Given the description of an element on the screen output the (x, y) to click on. 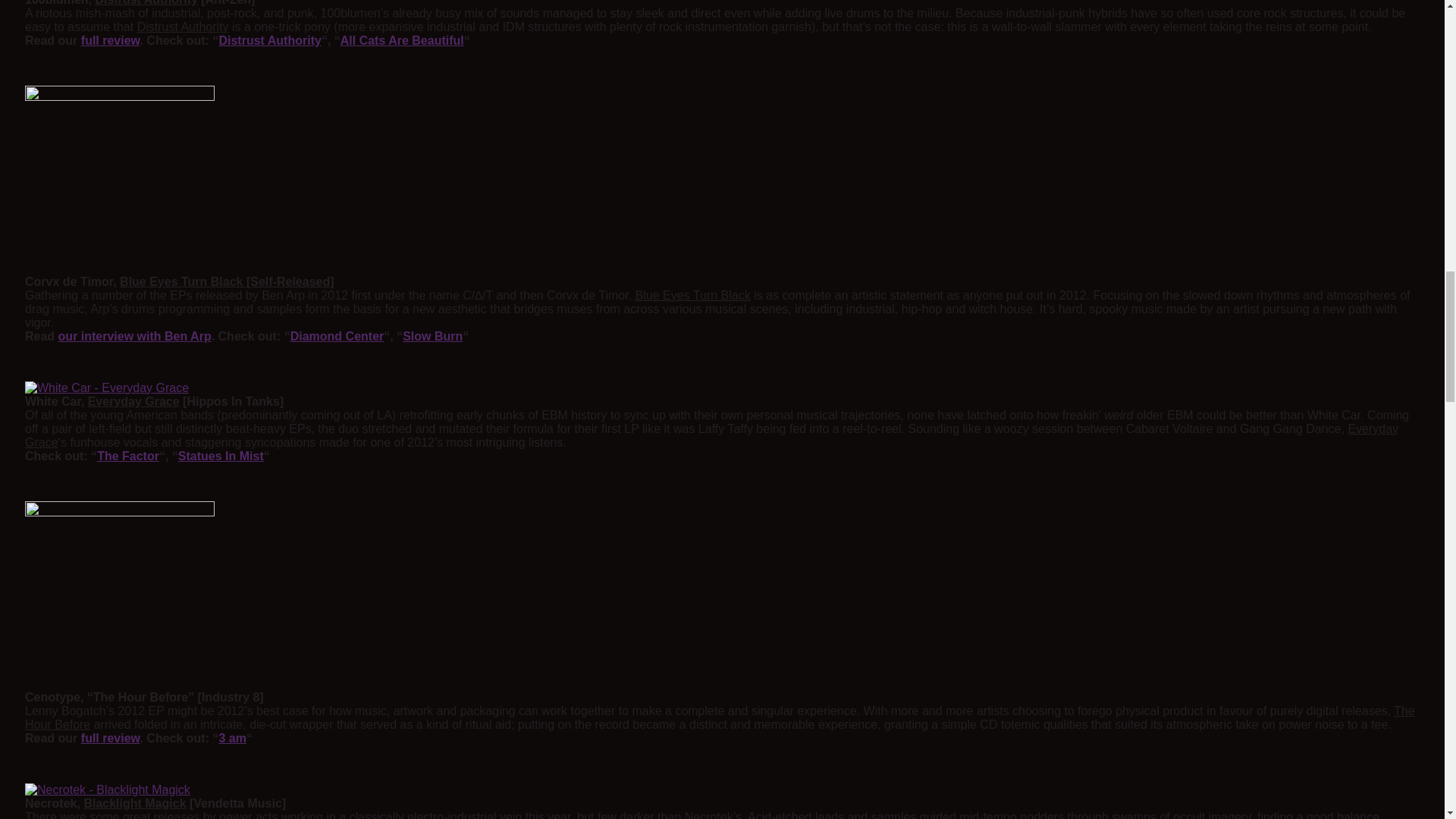
Blue Eyes Turn Black (119, 180)
cenotype (119, 596)
Necrotek - Blacklight Magick (107, 789)
White Car - Everyday Grace (106, 387)
